Given the description of an element on the screen output the (x, y) to click on. 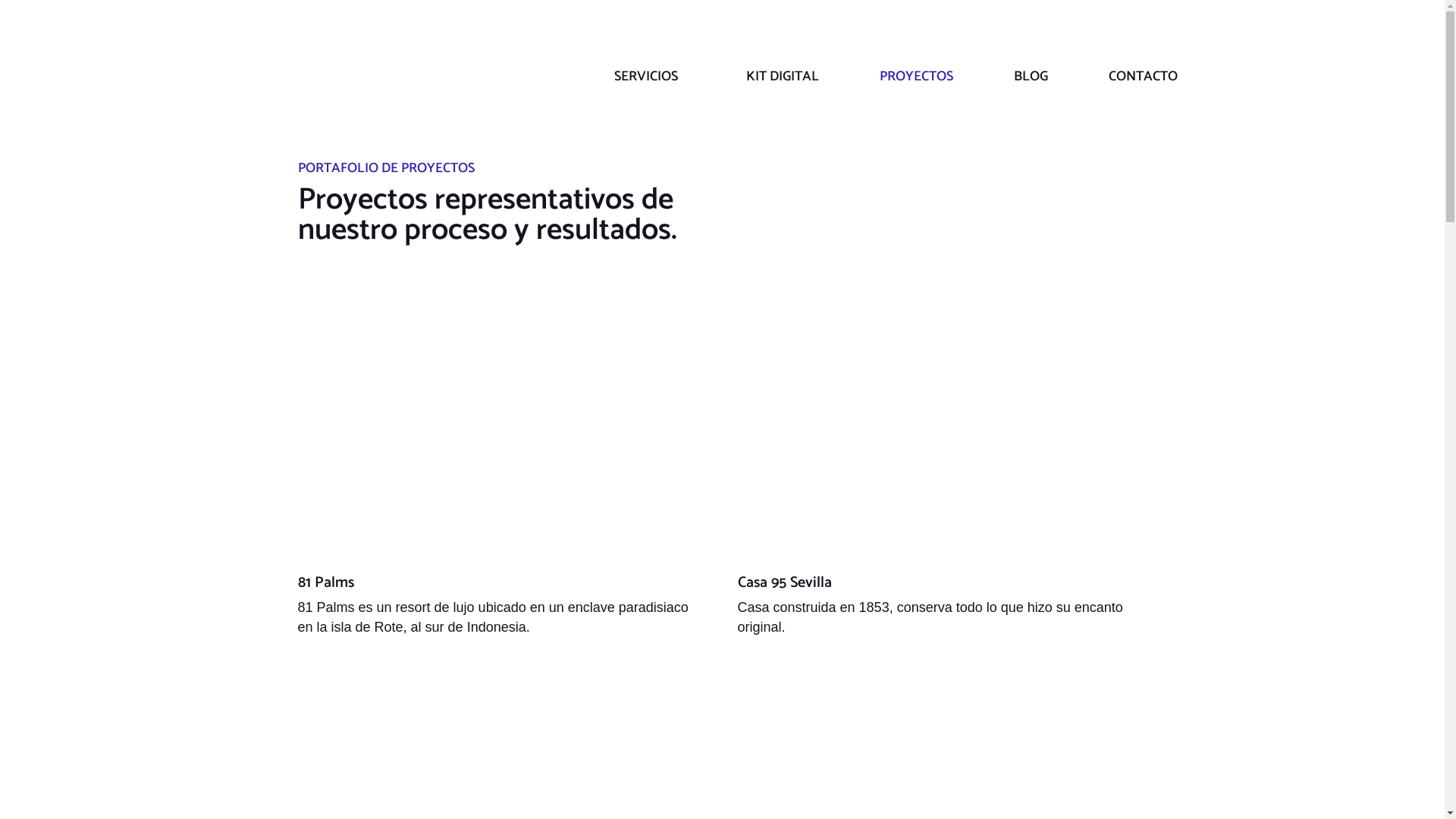
Casa 95 Sevilla Element type: hover (941, 426)
CONTACTO Element type: text (1143, 76)
casa-95-featured Element type: hover (941, 427)
KIT DIGITAL Element type: text (782, 76)
PROYECTOS Element type: text (916, 76)
81 Palms Element type: hover (501, 426)
81Palms_featured Element type: hover (501, 427)
BLOG Element type: text (1029, 76)
Casa 95 Sevilla Element type: text (784, 582)
81 Palms Element type: text (325, 582)
SERVICIOS Element type: text (649, 76)
